Given the description of an element on the screen output the (x, y) to click on. 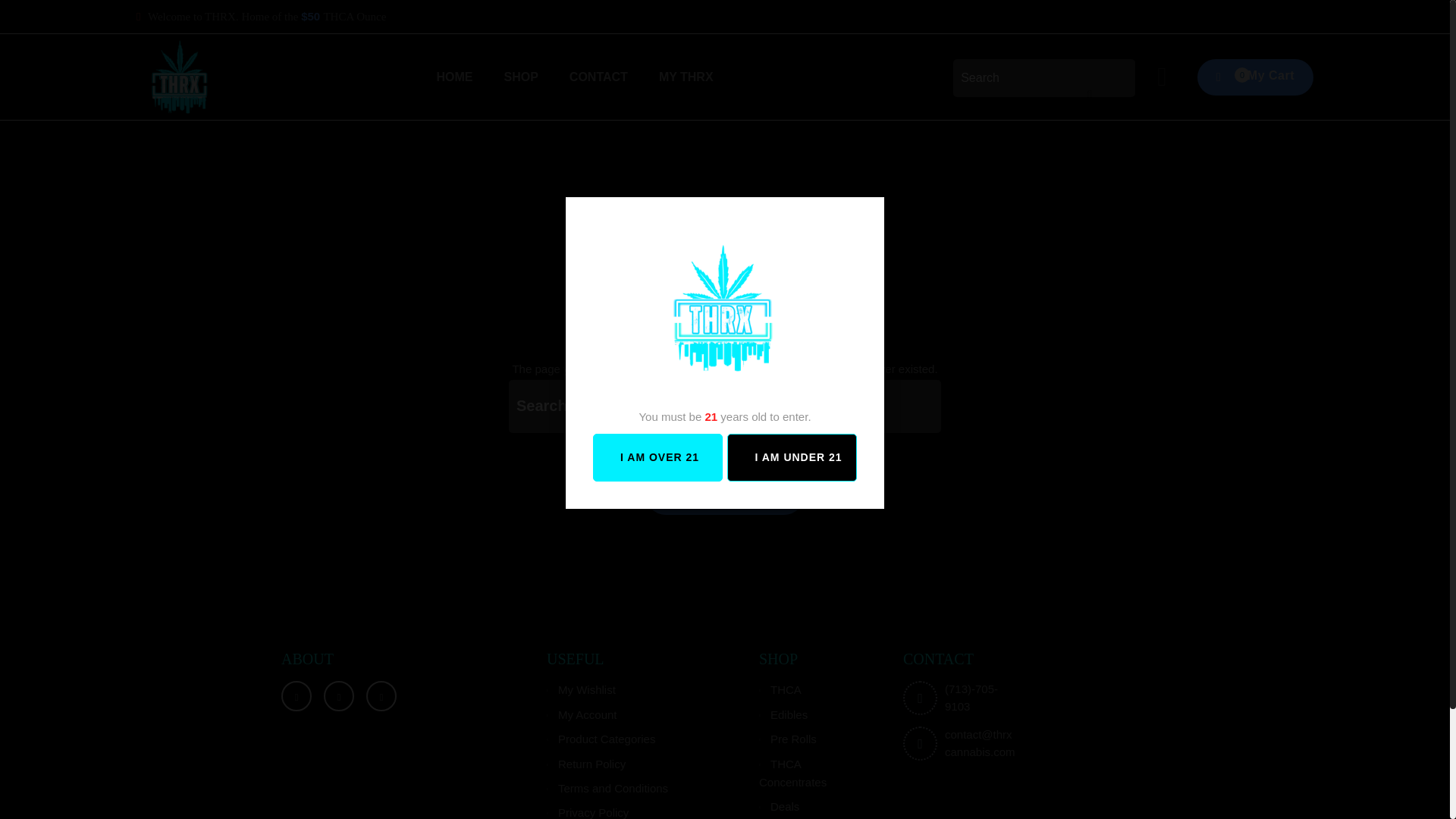
Pre Rolls (787, 738)
Deals (778, 806)
My Wishlist (581, 689)
Return Policy (586, 762)
My Account (582, 714)
Subscribe (724, 406)
GO TO HOMEPAGE (724, 494)
I AM OVER 21 (657, 457)
Privacy Policy (587, 812)
Edibles (783, 714)
Submit (724, 406)
Product Categories (1254, 76)
Terms and Conditions (601, 738)
I AM UNDER 21 (607, 788)
